Given the description of an element on the screen output the (x, y) to click on. 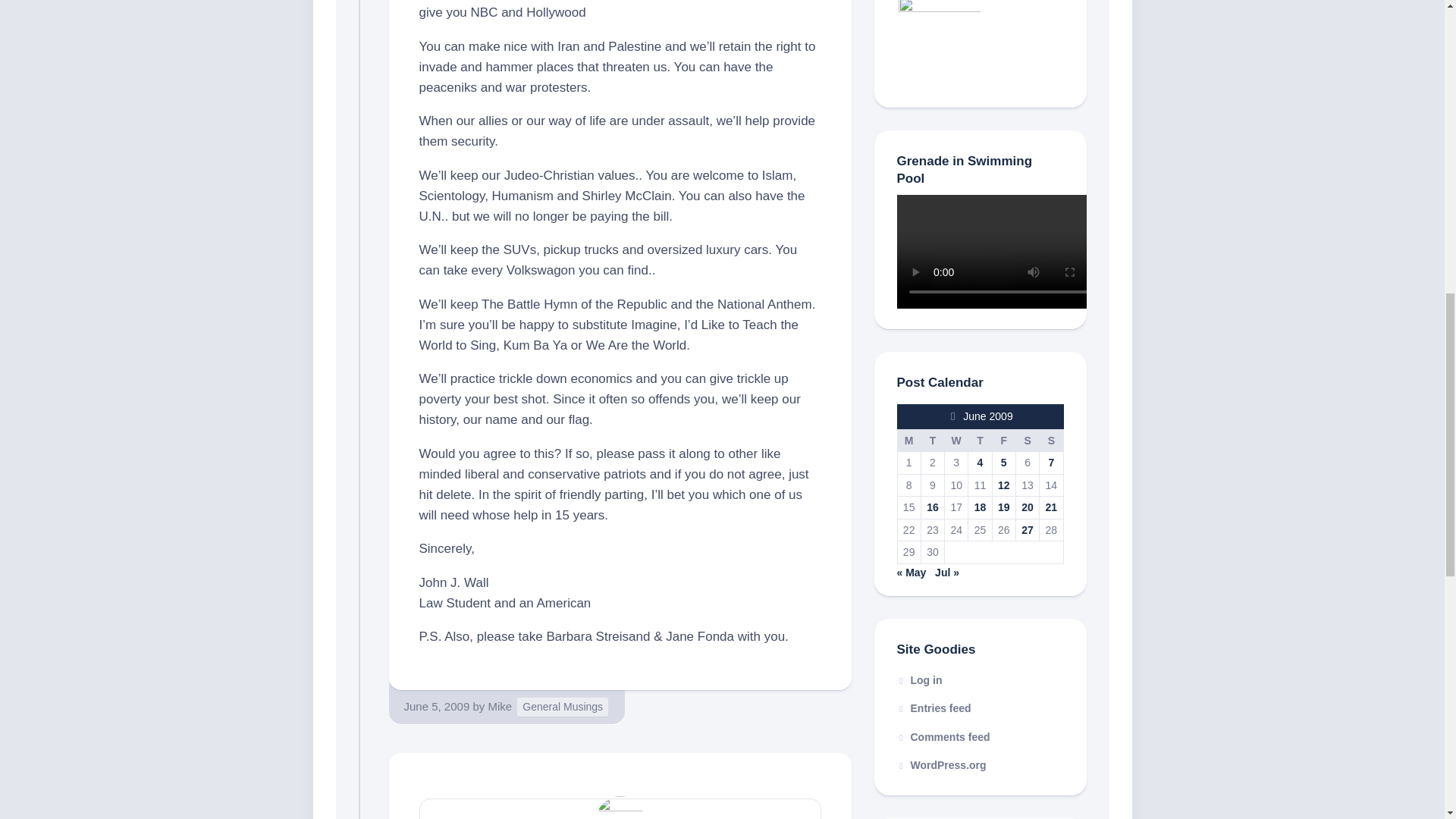
19 (1003, 507)
Wednesday (956, 440)
21 (1051, 507)
12 (1003, 485)
WordPress.org (940, 765)
Posts by Mike (499, 706)
18 (980, 507)
Comments feed (943, 736)
Friday (1002, 440)
Entries feed (933, 707)
Thursday (979, 440)
20 (1027, 507)
Mike (499, 706)
Saturday (1026, 440)
27 (1027, 530)
